Given the description of an element on the screen output the (x, y) to click on. 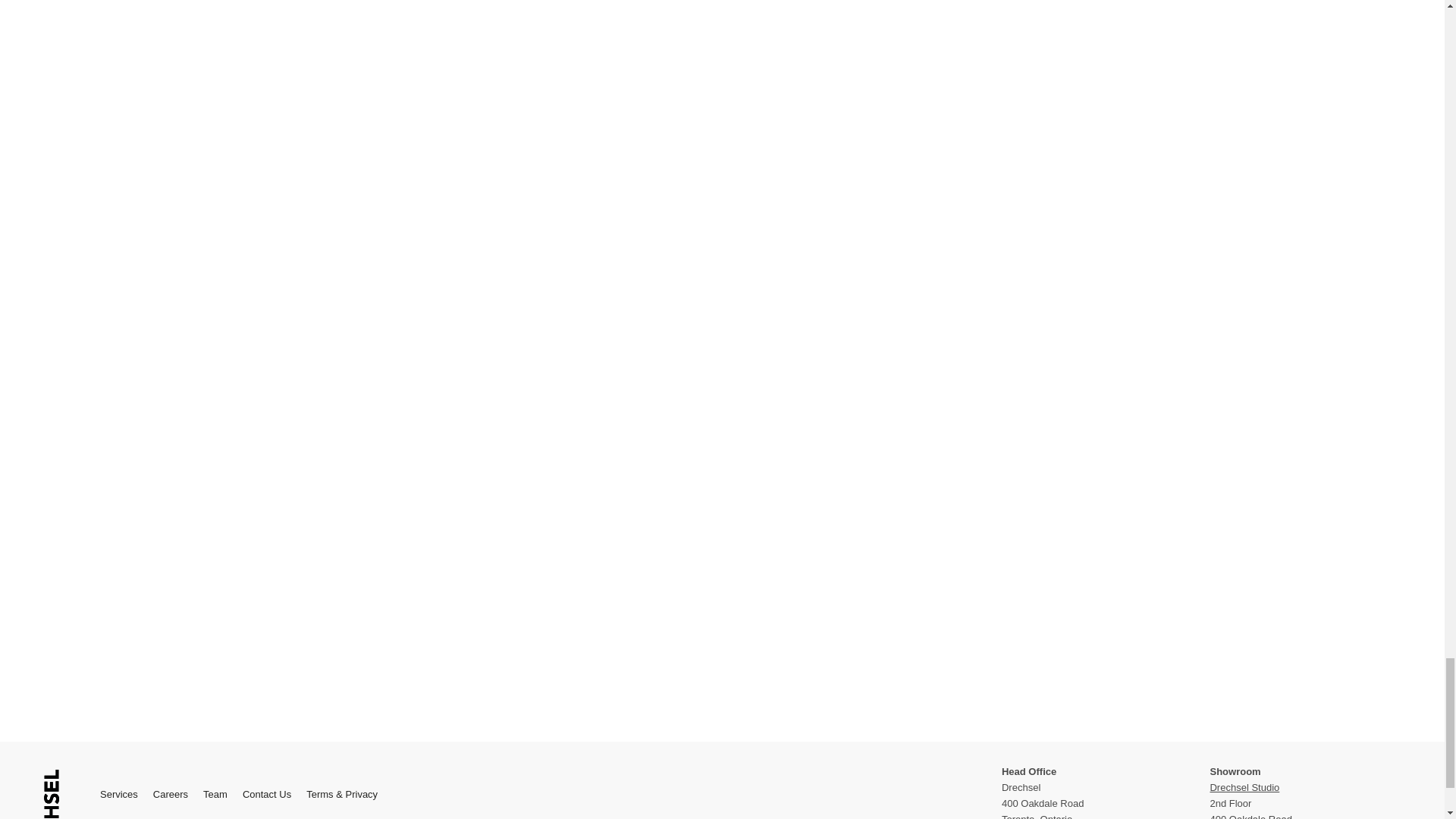
Services (119, 795)
Team (215, 795)
Careers (169, 795)
